Given the description of an element on the screen output the (x, y) to click on. 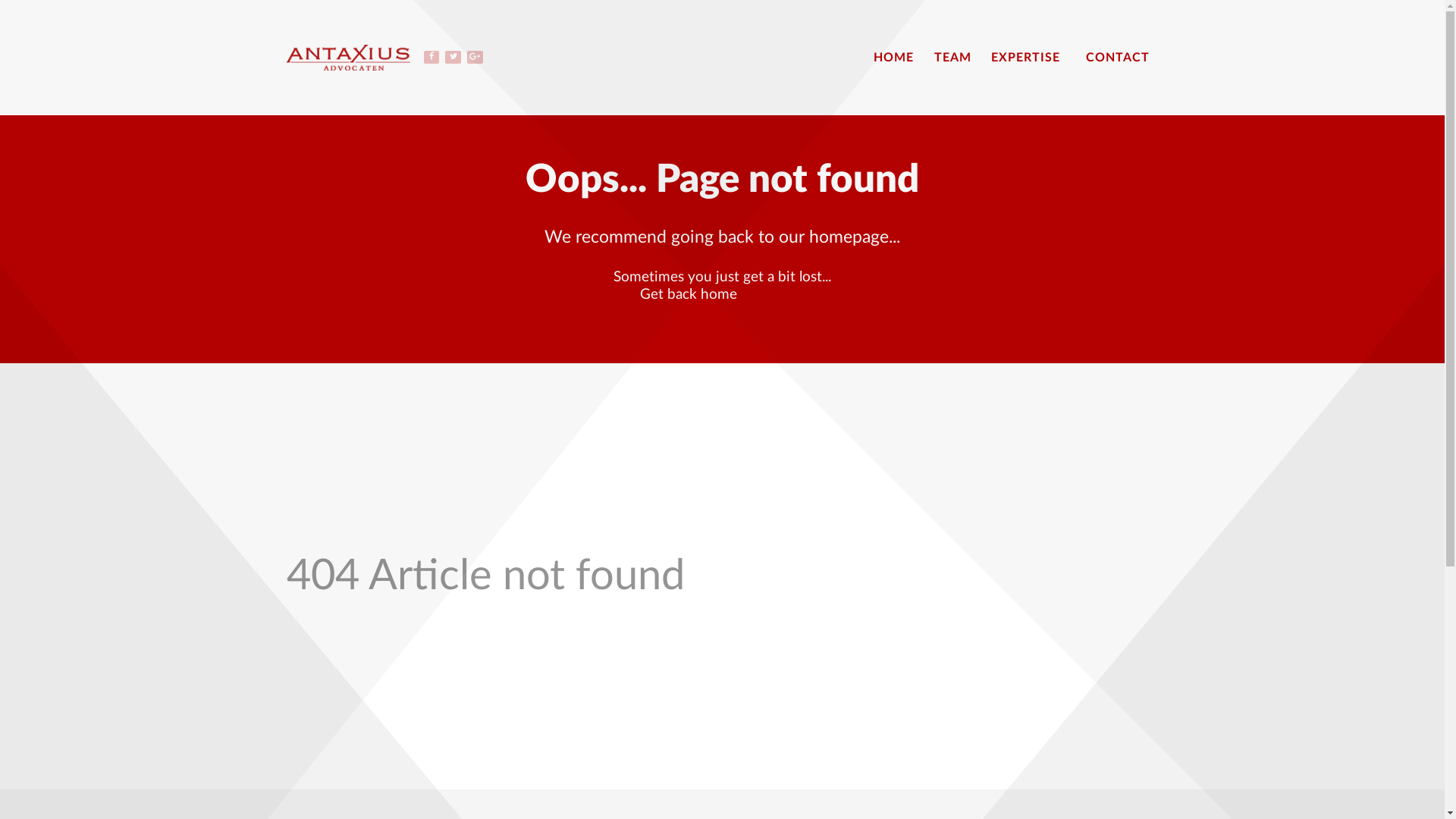
EXPERTISE Element type: text (1028, 57)
CONTACT Element type: text (1117, 57)
Back to homepage Element type: text (722, 336)
HOME Element type: text (893, 57)
TEAM Element type: text (952, 57)
Click here Element type: text (772, 294)
